Given the description of an element on the screen output the (x, y) to click on. 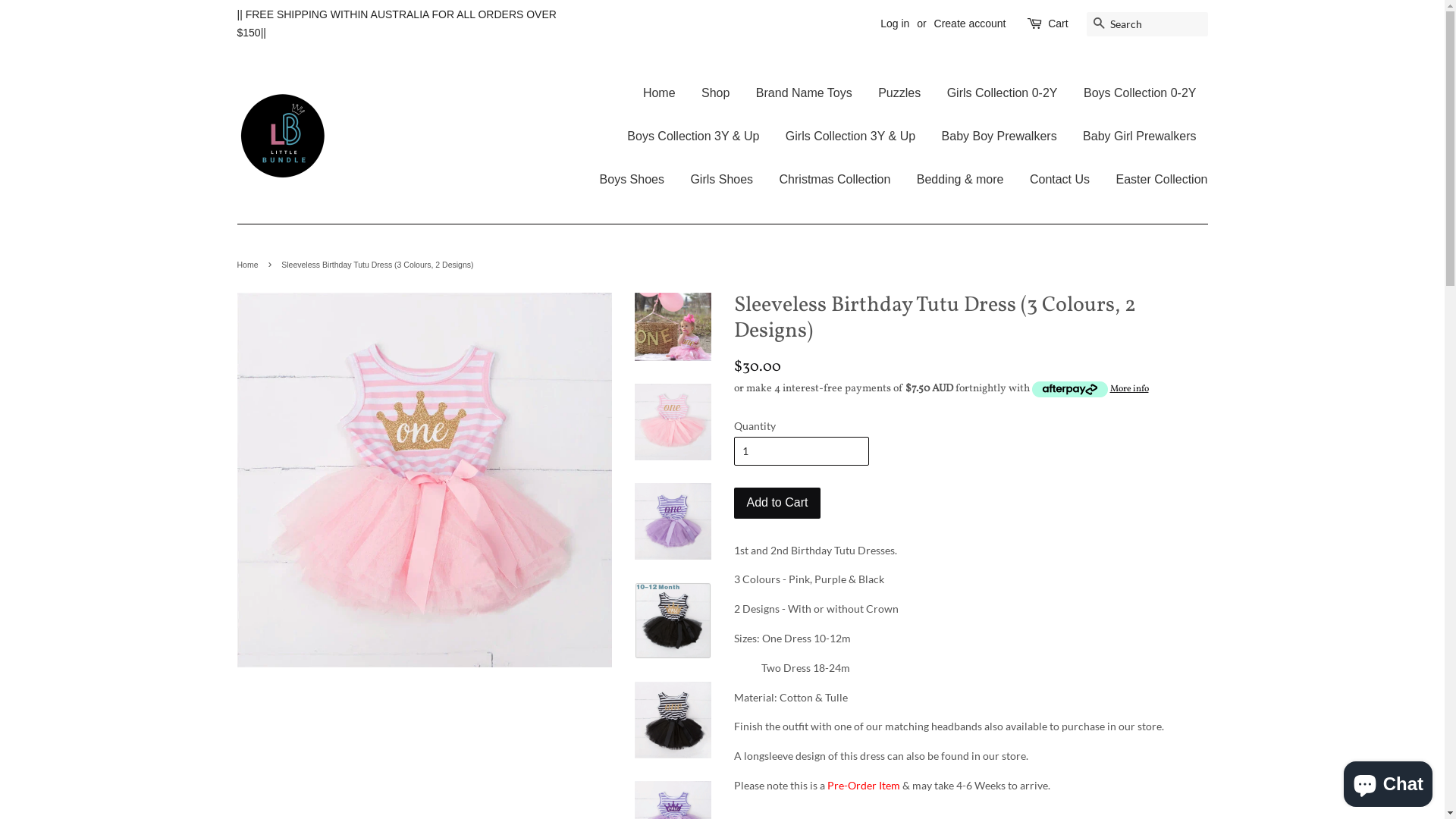
Bedding & more Element type: text (960, 178)
Boys Collection 3Y & Up Element type: text (692, 135)
Search Element type: text (1097, 24)
Add to Cart Element type: text (777, 502)
Baby Boy Prewalkers Element type: text (999, 135)
Baby Girl Prewalkers Element type: text (1139, 135)
Girls Collection 3Y & Up Element type: text (850, 135)
Boys Shoes Element type: text (631, 178)
Contact Us Element type: text (1059, 178)
Create account Element type: text (970, 23)
Cart Element type: text (1057, 24)
Log in Element type: text (894, 23)
Christmas Collection Element type: text (835, 178)
Easter Collection Element type: text (1156, 178)
Puzzles Element type: text (898, 92)
Home Element type: text (248, 264)
Shop Element type: text (715, 92)
More info Element type: text (1089, 388)
Shopify online store chat Element type: hover (1388, 780)
Girls Shoes Element type: text (721, 178)
Brand Name Toys Element type: text (803, 92)
Home Element type: text (665, 92)
Girls Collection 0-2Y Element type: text (1002, 92)
Boys Collection 0-2Y Element type: text (1140, 92)
